Given the description of an element on the screen output the (x, y) to click on. 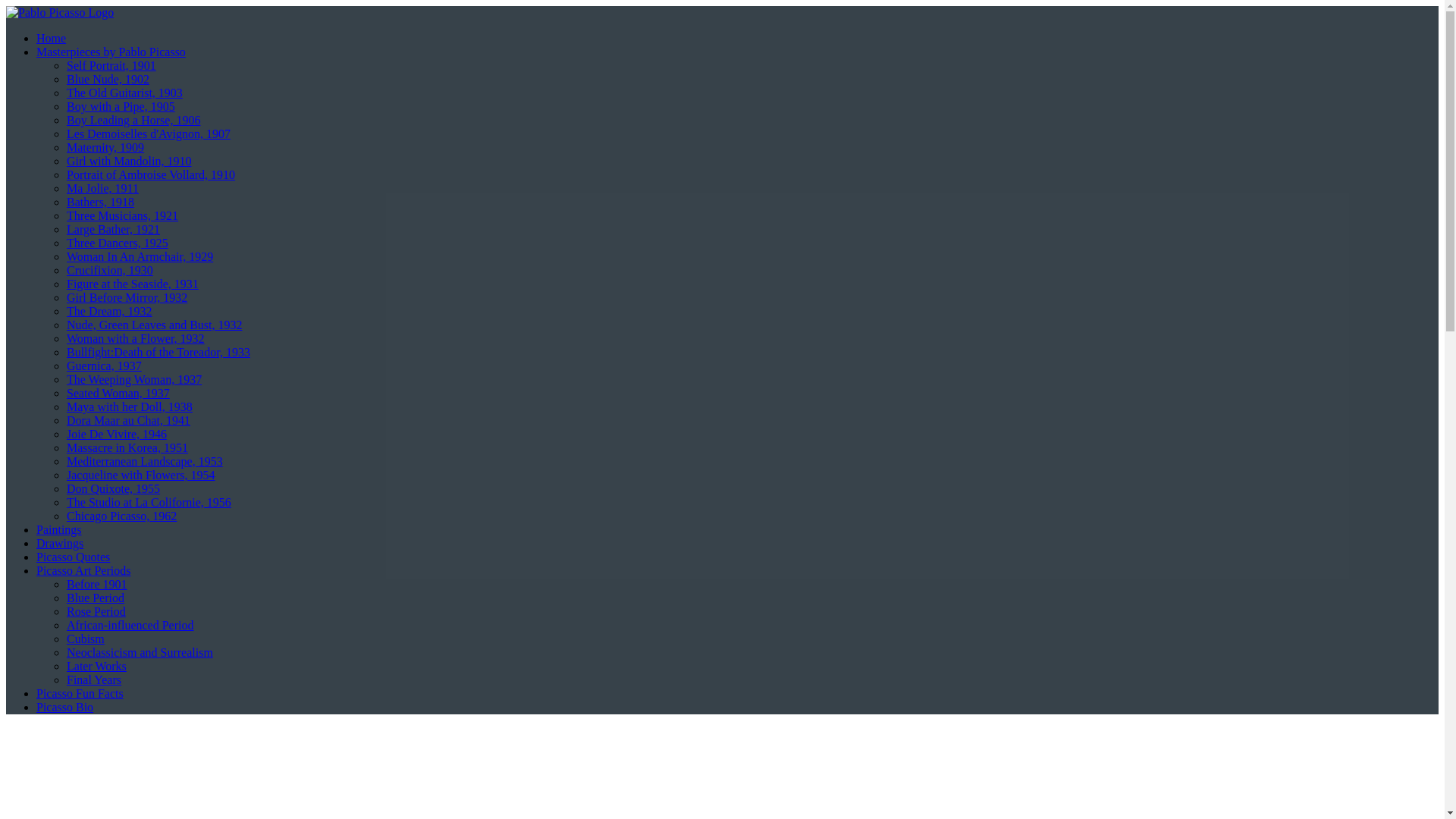
Mediterranean Landscape, 1953 (144, 461)
Drawings (59, 543)
The Studio at La Colifornie, 1956 (148, 502)
Portrait of Ambroise Vollard, 1910 (150, 174)
Bathers, 1918  (99, 201)
Nude, Green Leaves and Bust, 1932 (154, 324)
Woman with a Flower, 1932 by Pablo Picasso (135, 338)
Seated Woman, 1937 (118, 392)
Don Quixote, 1955 (113, 488)
Ma Jolie, 1911 by Pablo Picasso  (102, 187)
